Given the description of an element on the screen output the (x, y) to click on. 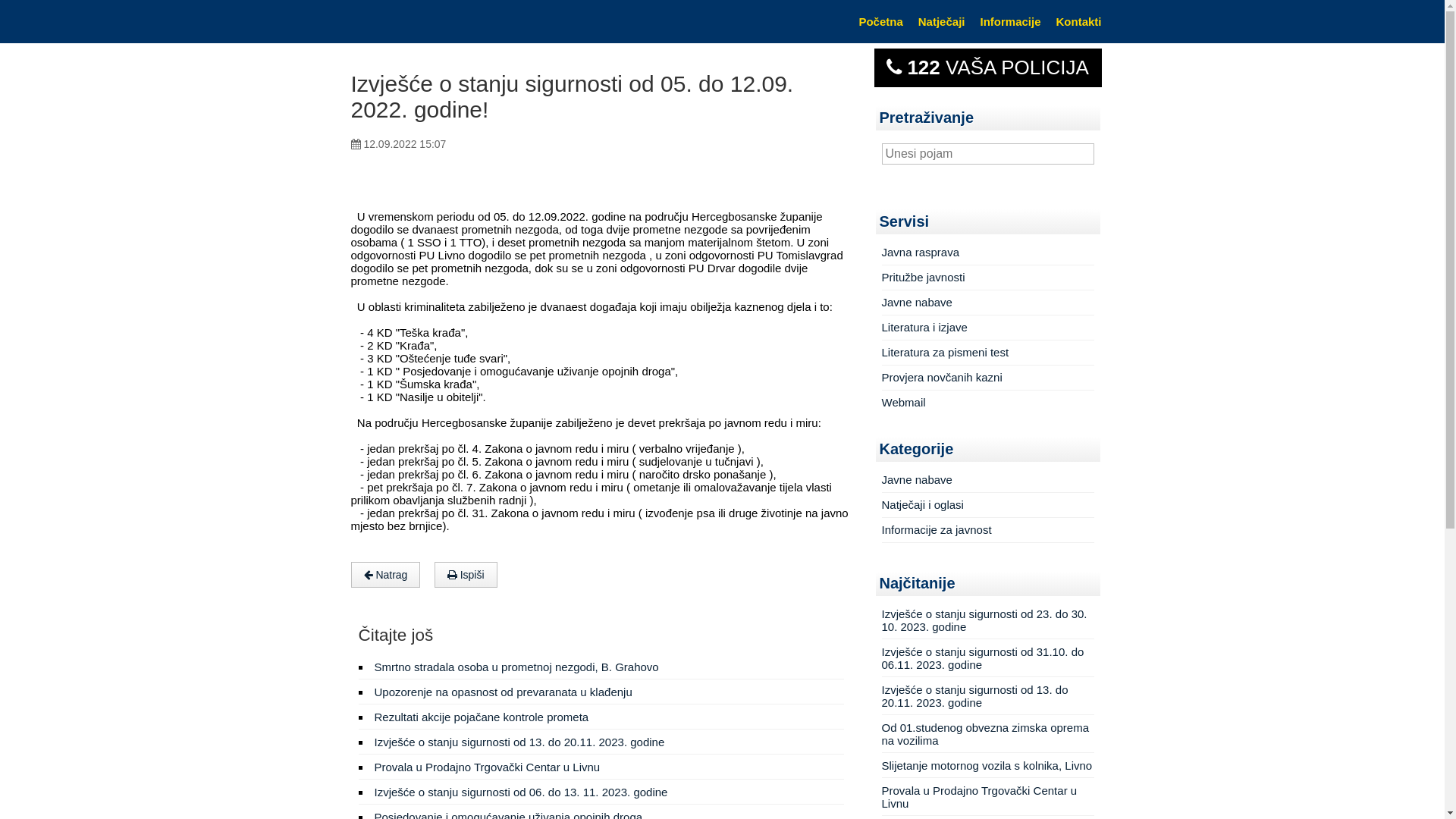
Javna rasprava Element type: text (920, 251)
Informacije Element type: text (1009, 21)
Javne nabave Element type: text (916, 301)
Informacije za javnost Element type: text (936, 529)
Webmail Element type: text (903, 401)
Od 01.studenog obvezna zimska oprema na vozilima Element type: text (984, 733)
Kontakti Element type: text (1078, 21)
Smrtno stradala osoba u prometnoj nezgodi, B. Grahovo Element type: text (516, 666)
Javne nabave Element type: text (916, 479)
Slijetanje motornog vozila s kolnika, Livno Element type: text (986, 764)
Natrag Element type: text (385, 574)
Literatura za pismeni test Element type: text (944, 351)
Literatura i izjave Element type: text (923, 326)
